Given the description of an element on the screen output the (x, y) to click on. 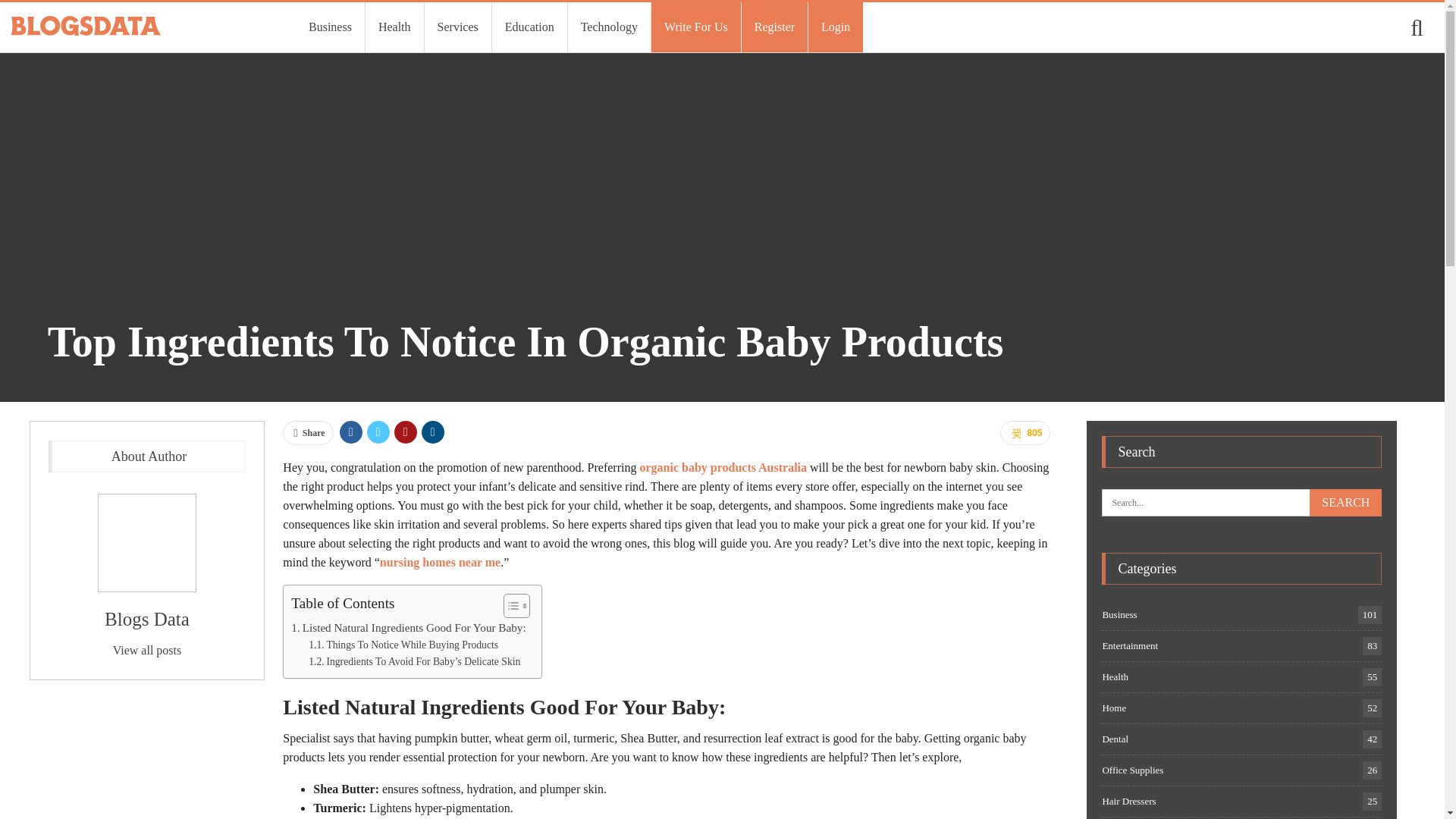
Technology (609, 27)
Things To Notice While Buying Products (402, 645)
Technology (609, 27)
Education (529, 27)
Business (329, 27)
Services (457, 27)
Services (457, 27)
Register (774, 27)
Write For Us (696, 27)
Listed Natural Ingredients Good For Your Baby: (408, 628)
nursing homes near me (440, 562)
Search (1344, 502)
Things To Notice While Buying Products (402, 645)
Education (529, 27)
Business (329, 27)
